Given the description of an element on the screen output the (x, y) to click on. 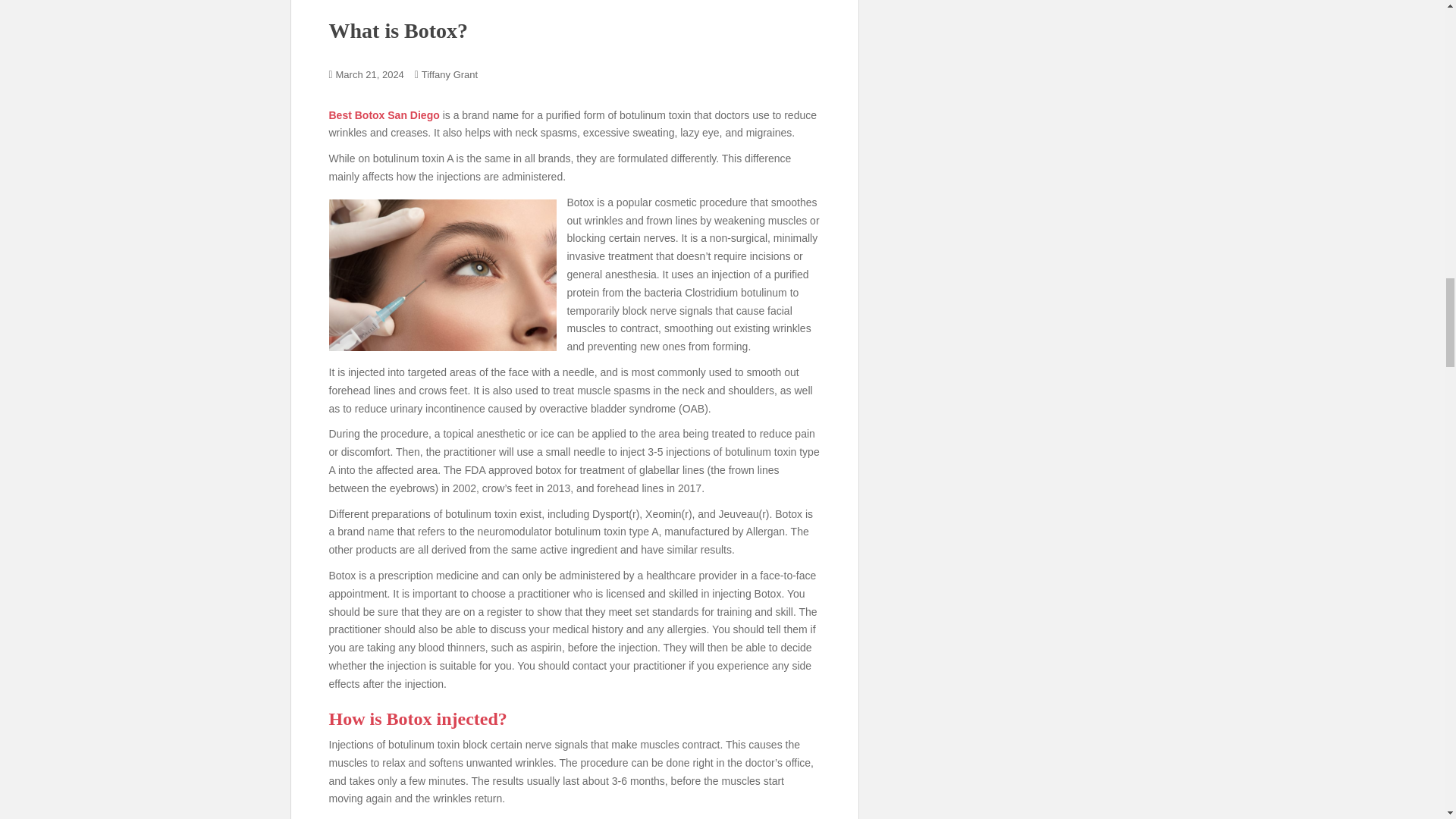
March 21, 2024 (370, 74)
Best Botox San Diego (384, 114)
Tiffany Grant (449, 74)
What is Botox? (398, 30)
